Given the description of an element on the screen output the (x, y) to click on. 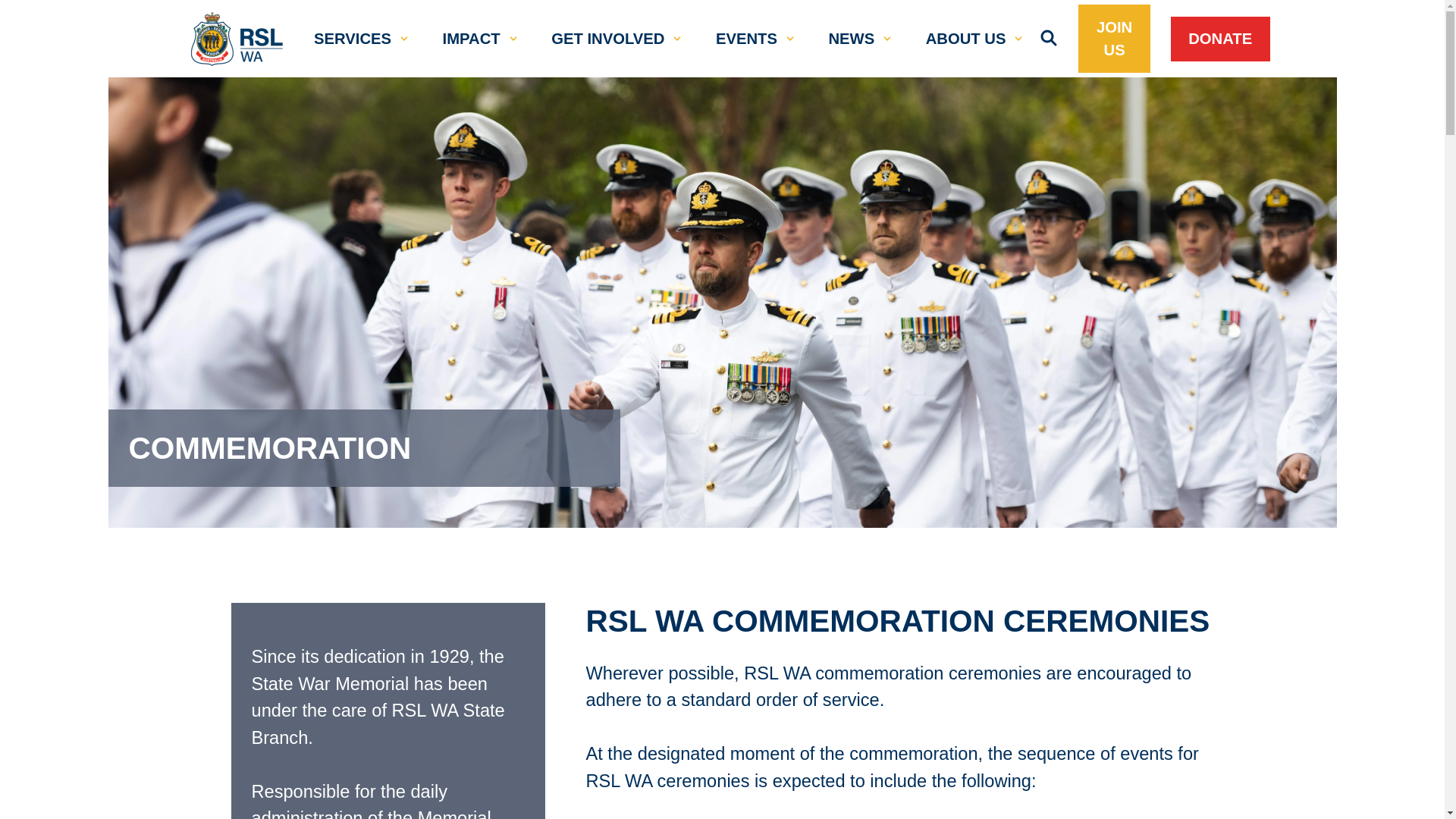
IMPACT (471, 38)
SERVICES (352, 38)
NEWS (851, 38)
GET INVOLVED (607, 38)
EVENTS (746, 38)
